Given the description of an element on the screen output the (x, y) to click on. 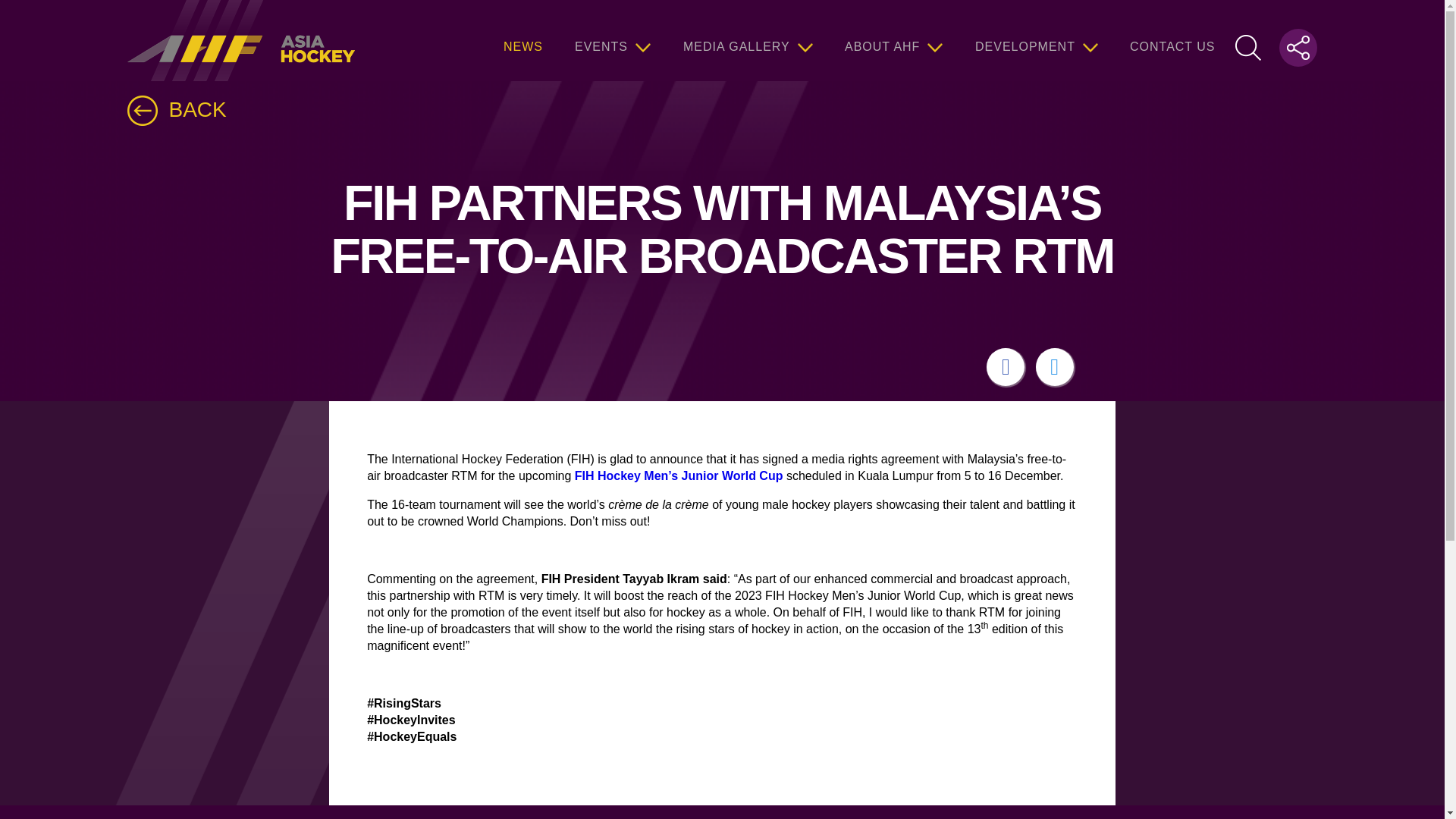
DEVELOPMENT (1036, 40)
MEDIA GALLERY (747, 40)
EVENTS (612, 40)
ABOUT AHF (892, 40)
CONTACT US (1172, 40)
